Given the description of an element on the screen output the (x, y) to click on. 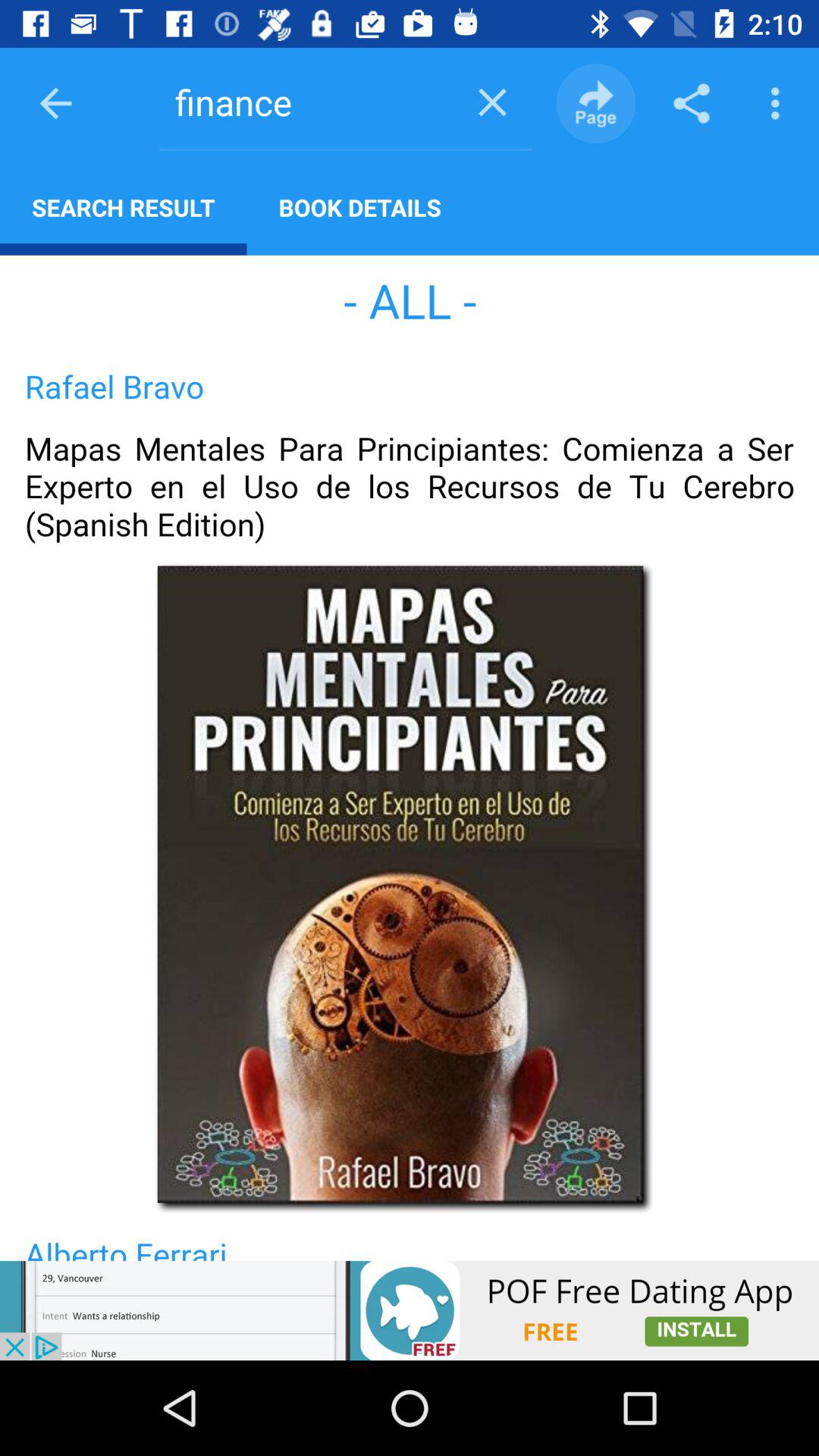
visit sponsor advertisement (409, 1310)
